Given the description of an element on the screen output the (x, y) to click on. 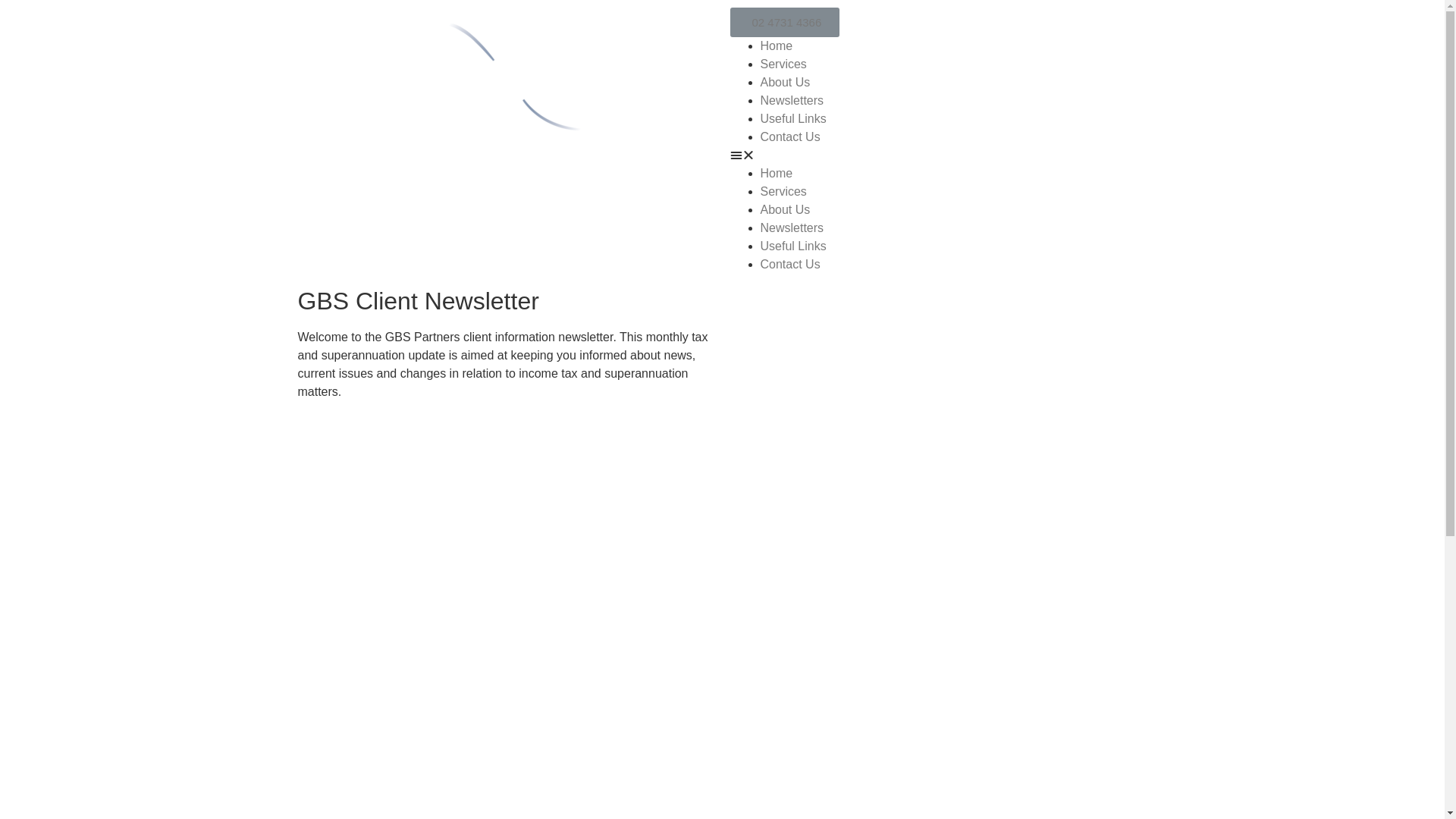
Useful Links Element type: text (792, 118)
Services Element type: text (782, 63)
Contact Us Element type: text (789, 263)
About Us Element type: text (784, 81)
About Us Element type: text (784, 209)
Useful Links Element type: text (792, 245)
Services Element type: text (782, 191)
02 4731 4366 Element type: text (784, 22)
Contact Us Element type: text (789, 136)
Home Element type: text (775, 172)
Home Element type: text (775, 45)
Newsletters Element type: text (791, 227)
Newsletters Element type: text (791, 100)
